Given the description of an element on the screen output the (x, y) to click on. 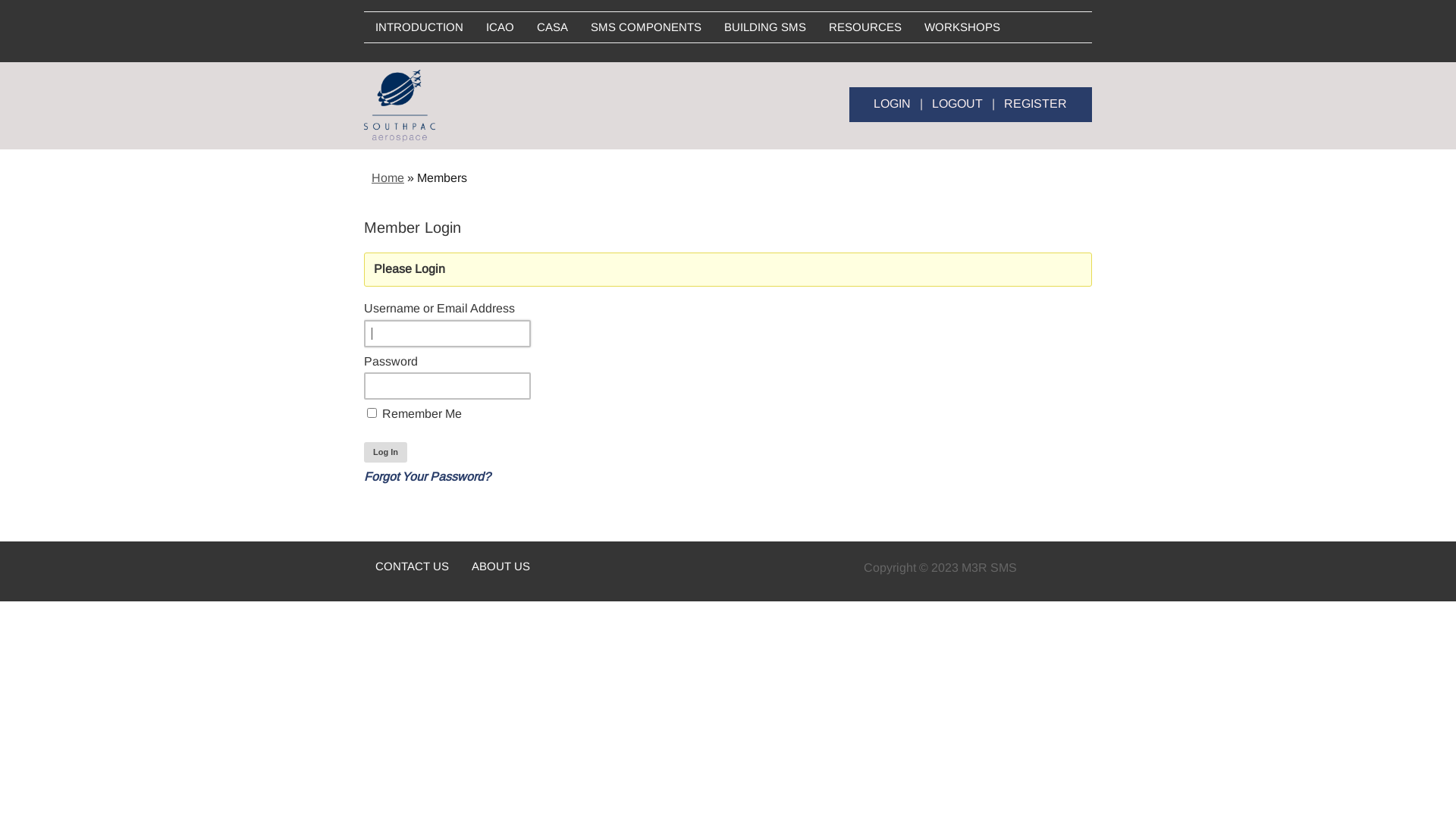
REGISTER Element type: text (1035, 103)
RESOURCES Element type: text (865, 27)
Log In Element type: text (385, 452)
ICAO Element type: text (499, 27)
Home Element type: text (387, 177)
CONTACT US Element type: text (412, 565)
INTRODUCTION Element type: text (419, 27)
ABOUT US Element type: text (500, 565)
SMS COMPONENTS Element type: text (645, 27)
LOGIN Element type: text (891, 103)
BUILDING SMS Element type: text (764, 27)
LOGOUT Element type: text (956, 103)
WORKSHOPS Element type: text (962, 27)
CASA Element type: text (552, 27)
Forgot Your Password? Element type: text (427, 476)
